Given the description of an element on the screen output the (x, y) to click on. 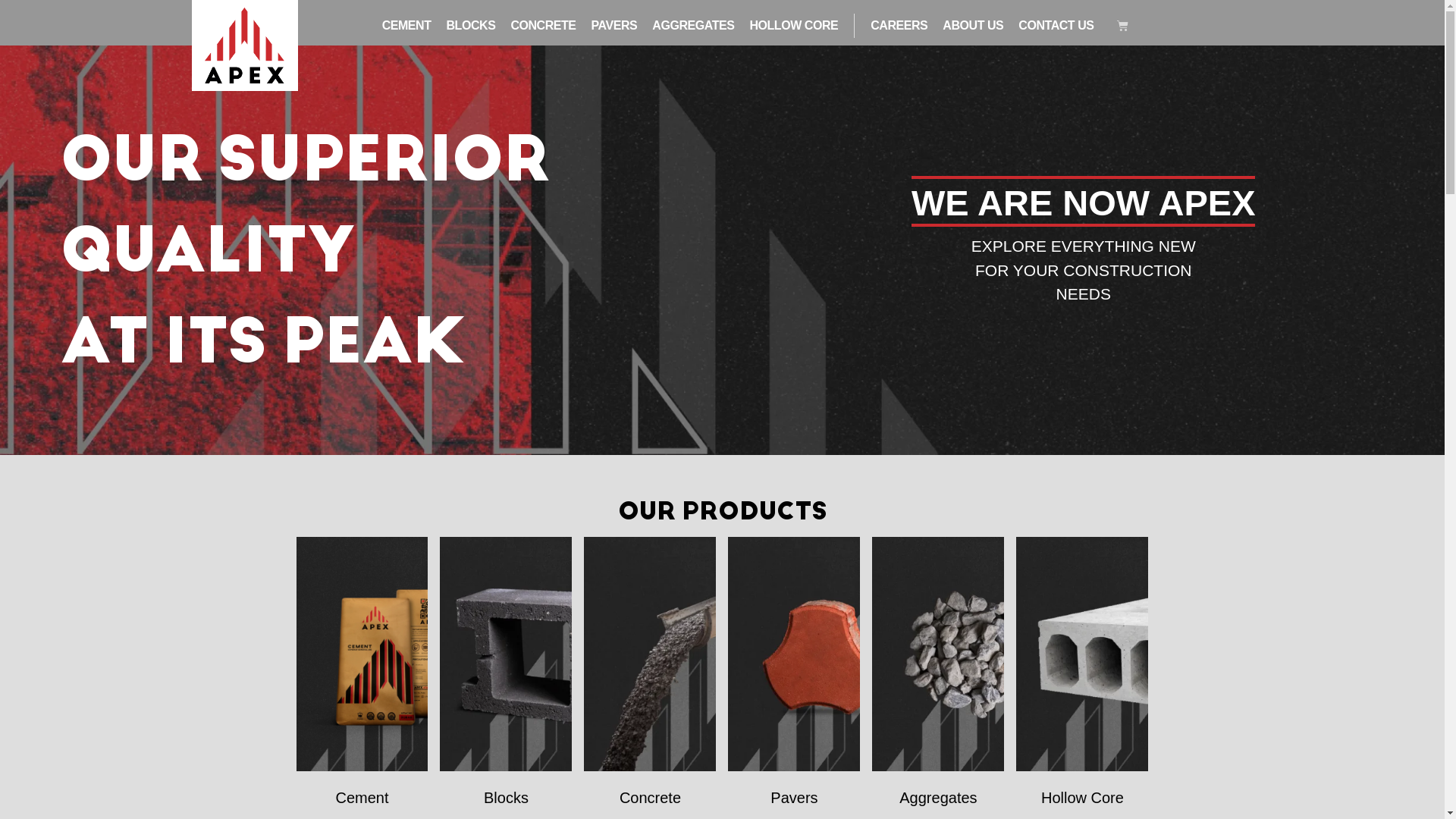
AGGREGATES Element type: text (692, 25)
BLOCKS Element type: text (470, 25)
CAREERS Element type: text (898, 25)
CONCRETE Element type: text (542, 25)
CONTACT US Element type: text (1055, 25)
ABOUT US Element type: text (972, 25)
PAVERS Element type: text (614, 25)
HOLLOW CORE Element type: text (793, 25)
CEMENT Element type: text (406, 25)
